Given the description of an element on the screen output the (x, y) to click on. 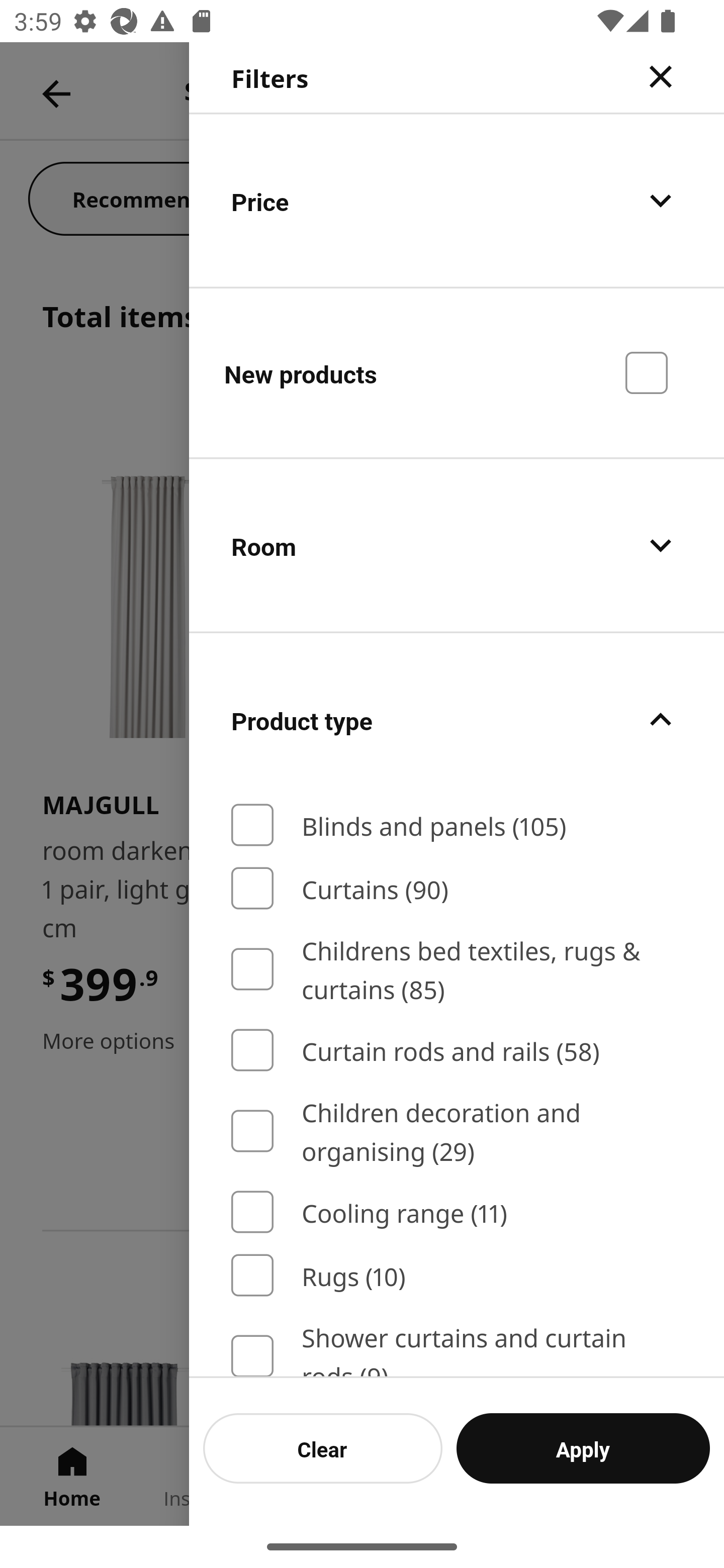
Price (456, 200)
New products (456, 371)
Room (456, 545)
Product type (456, 719)
Blinds and panels (105) (456, 825)
Curtains (90) (456, 888)
Childrens bed textiles, rugs & curtains (85) (456, 969)
Curtain rods and rails (58) (456, 1049)
Children decoration and organising (29) (456, 1130)
Cooling range (11) (456, 1212)
Rugs (10) (456, 1275)
Shower curtains and curtain rods (9) (456, 1346)
Clear (322, 1447)
Apply (583, 1447)
